Given the description of an element on the screen output the (x, y) to click on. 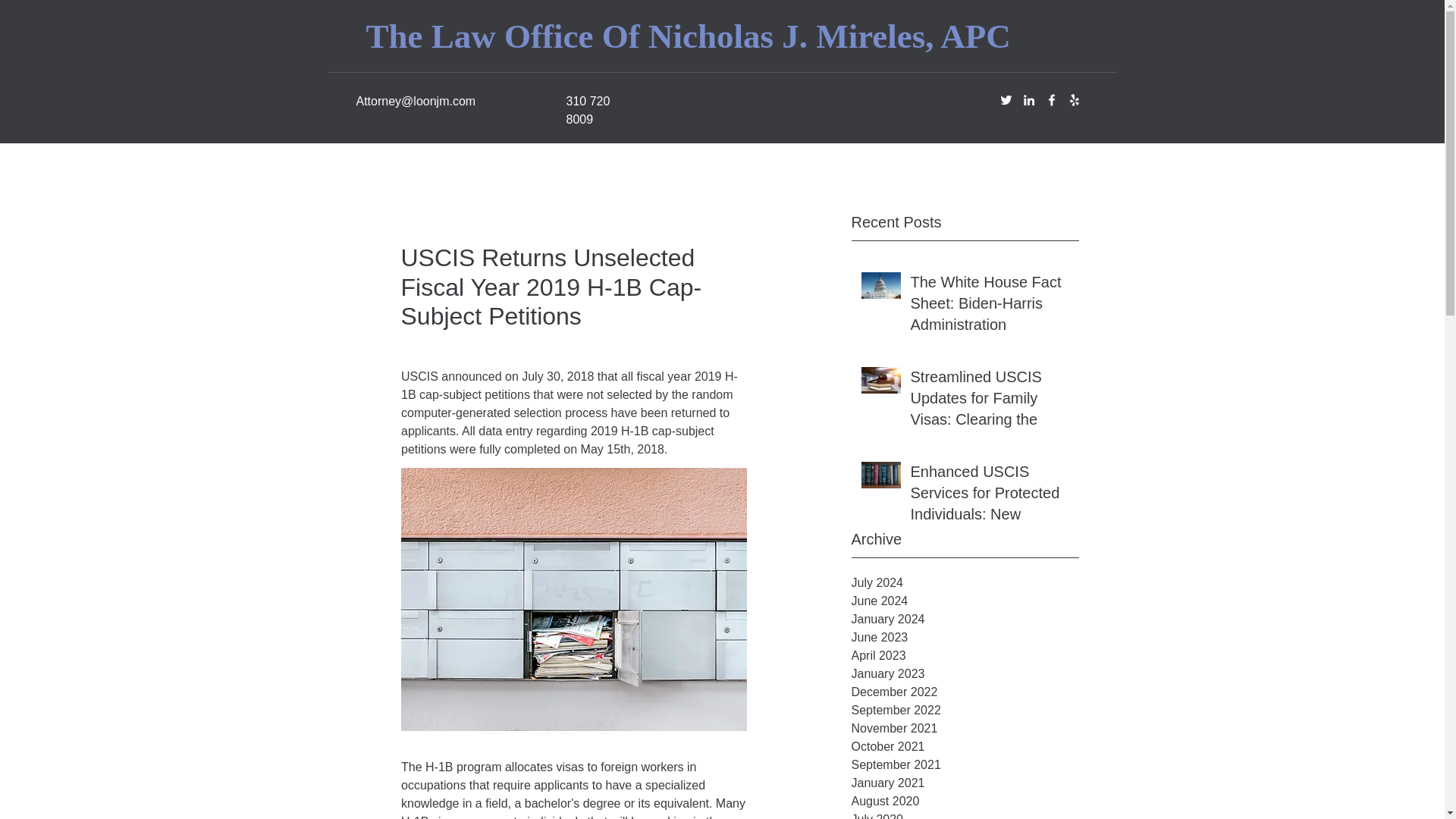
September 2021 (964, 764)
January 2023 (964, 674)
July 2020 (964, 814)
January 2024 (964, 619)
June 2024 (964, 601)
December 2022 (964, 692)
October 2021 (964, 746)
July 2024 (964, 583)
January 2021 (964, 782)
April 2023 (964, 656)
June 2023 (964, 637)
August 2020 (964, 801)
November 2021 (964, 728)
